Given the description of an element on the screen output the (x, y) to click on. 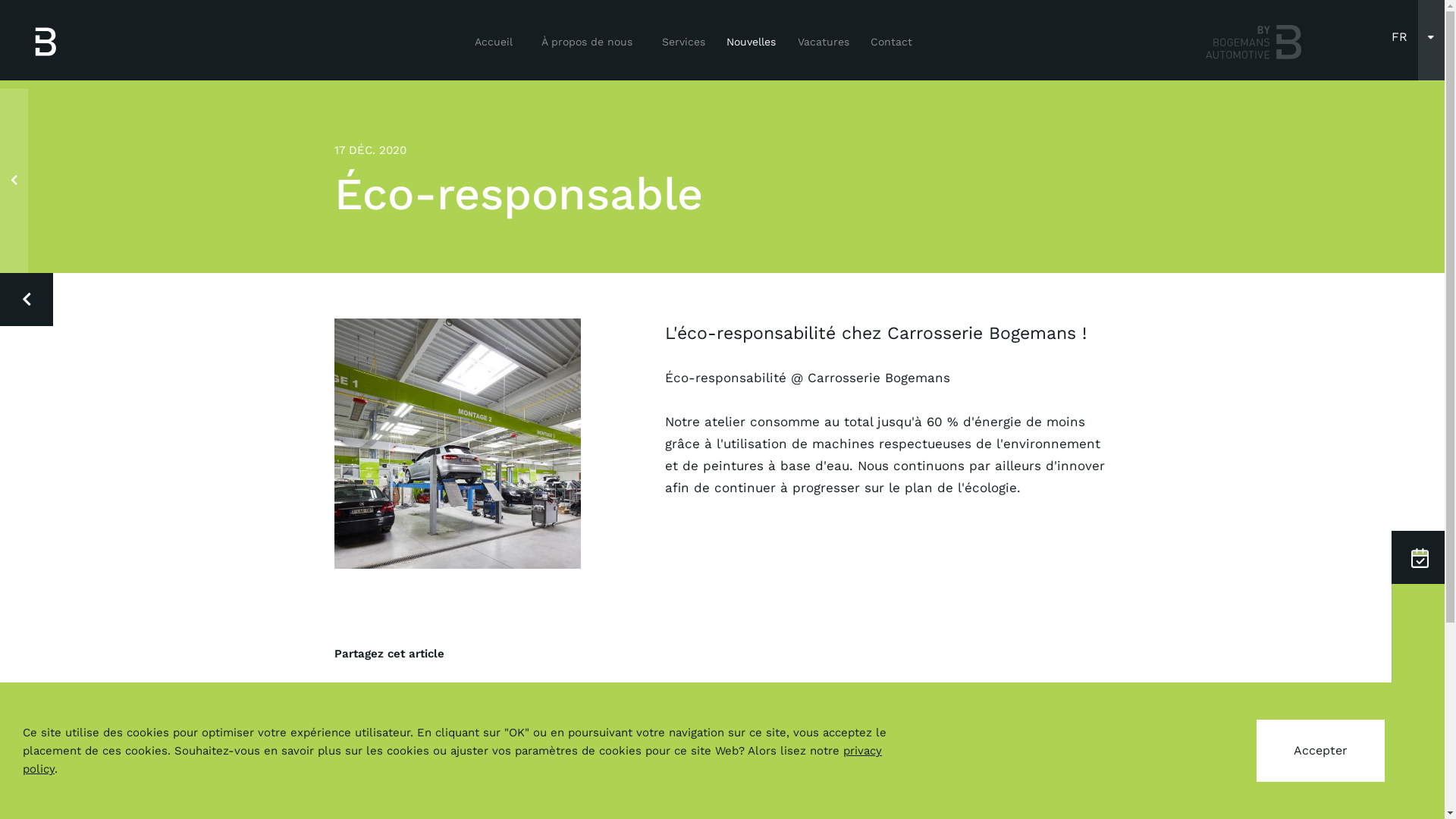
privacy policy Element type: text (451, 759)
Accueil Element type: text (493, 42)
Nouvelles Element type: text (750, 42)
Contact Element type: text (890, 42)
Services Element type: text (683, 42)
Vacatures Element type: text (823, 42)
FR Element type: text (1399, 37)
Accepter Element type: text (1320, 750)
